Given the description of an element on the screen output the (x, y) to click on. 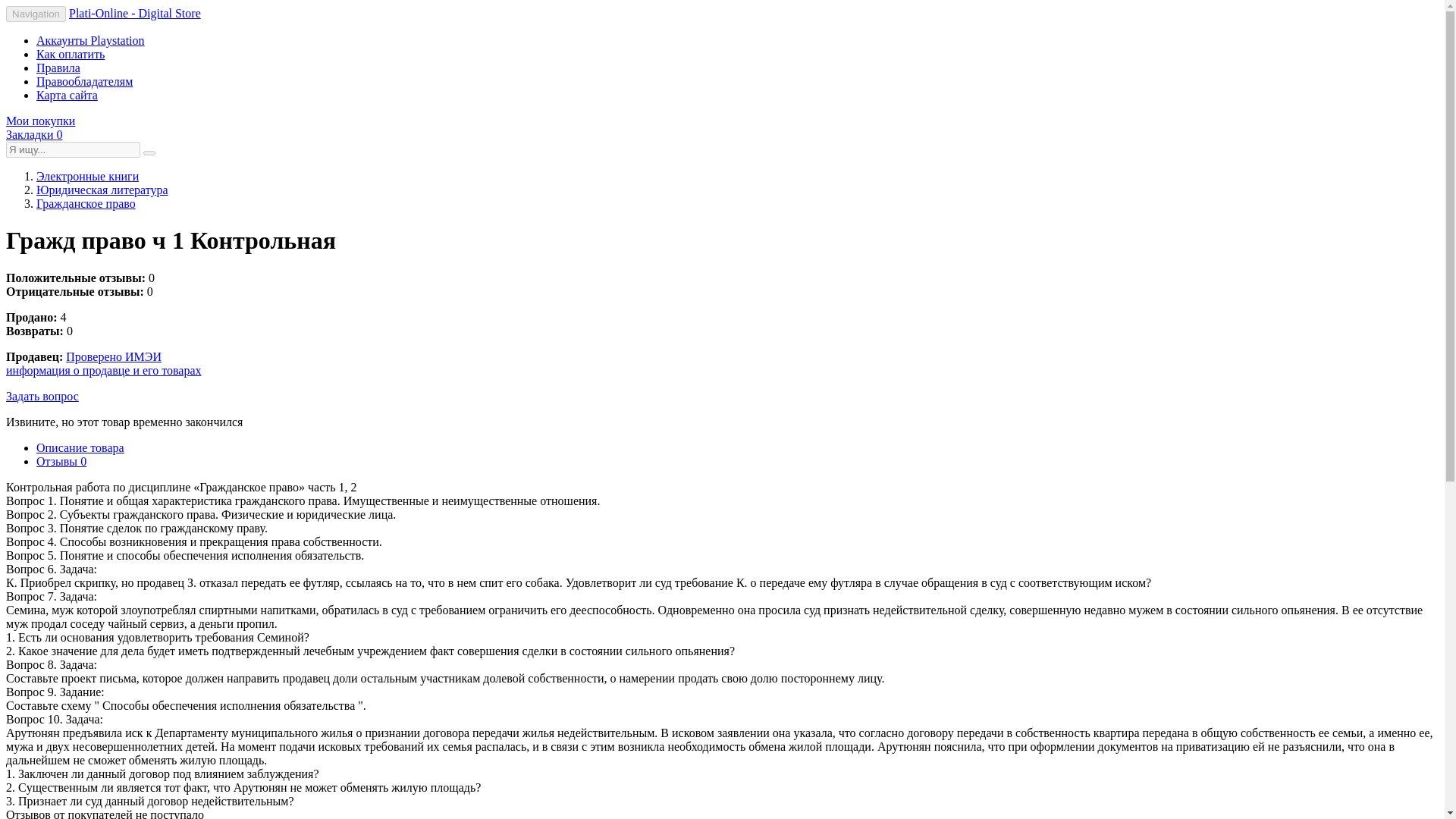
Plati-Online - Digital Store (134, 12)
Navigation (35, 13)
